Given the description of an element on the screen output the (x, y) to click on. 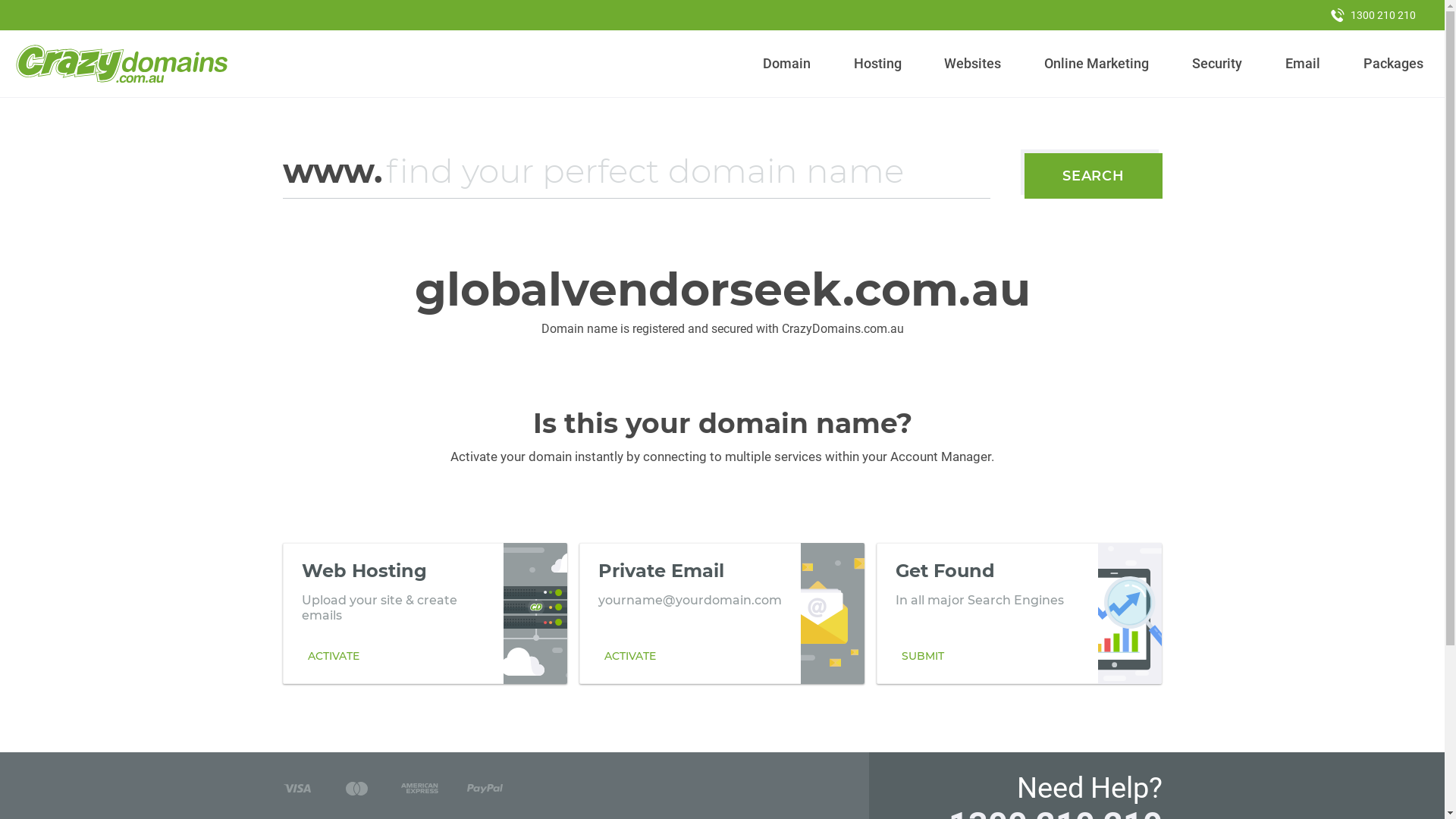
Security Element type: text (1217, 63)
1300 210 210 Element type: text (1373, 15)
Online Marketing Element type: text (1096, 63)
Private Email
yourname@yourdomain.com
ACTIVATE Element type: text (721, 613)
Email Element type: text (1302, 63)
Domain Element type: text (786, 63)
Websites Element type: text (972, 63)
SEARCH Element type: text (1092, 175)
Web Hosting
Upload your site & create emails
ACTIVATE Element type: text (424, 613)
Hosting Element type: text (877, 63)
Packages Element type: text (1392, 63)
Get Found
In all major Search Engines
SUBMIT Element type: text (1018, 613)
